Given the description of an element on the screen output the (x, y) to click on. 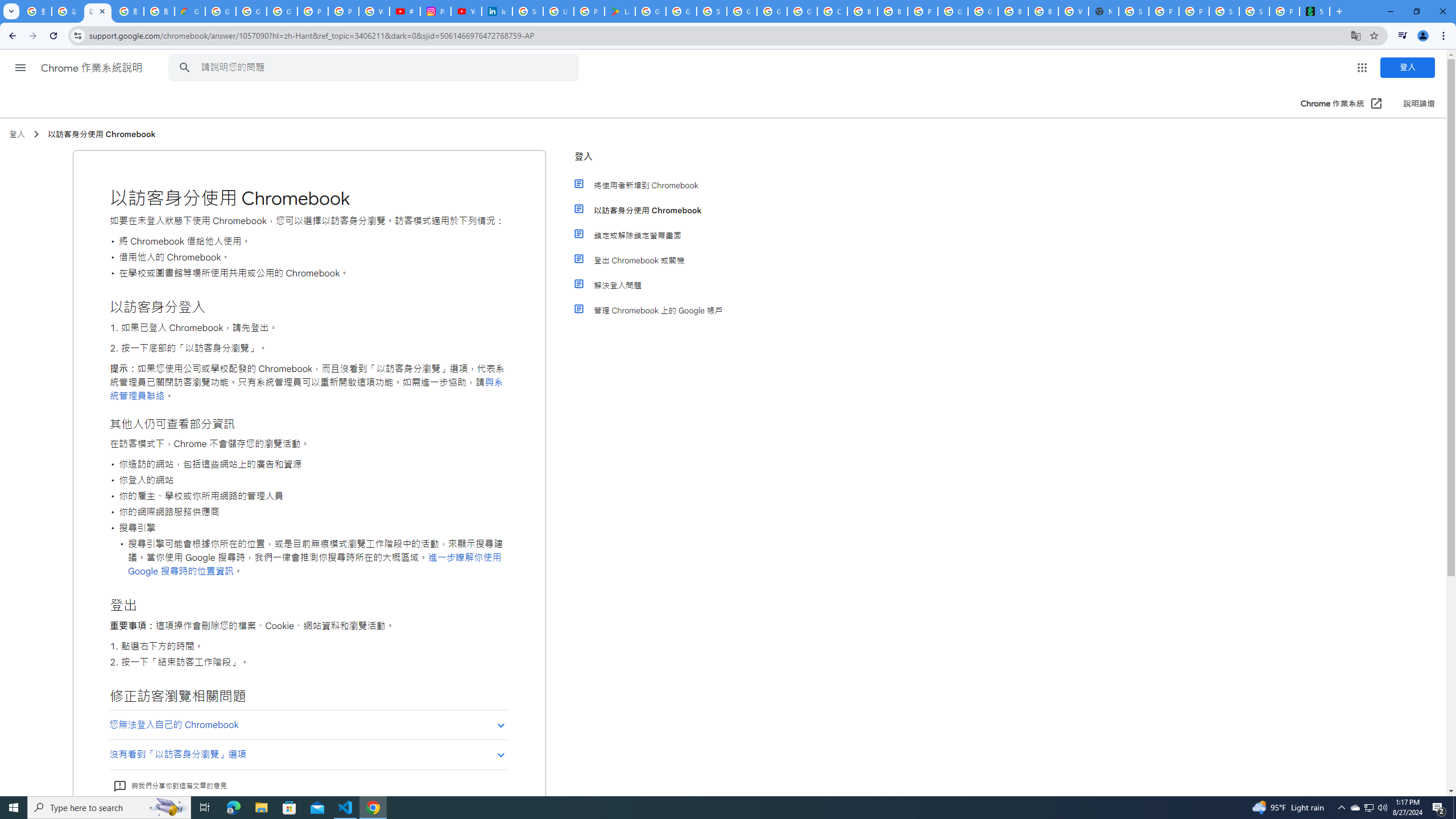
Translate this page (1355, 35)
